Given the description of an element on the screen output the (x, y) to click on. 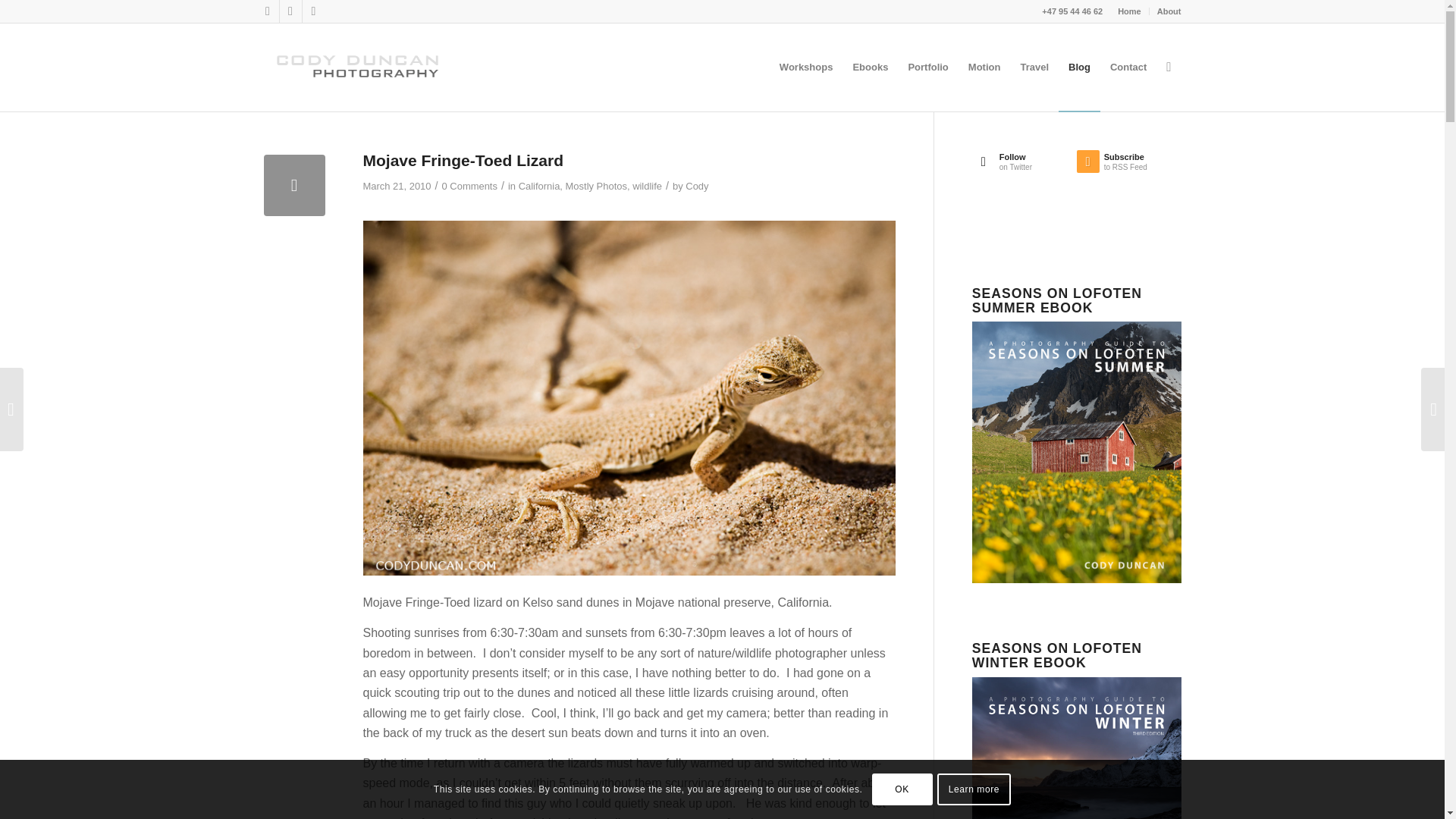
Posts by Cody (696, 185)
wildlife (646, 185)
About (1168, 11)
Home (1129, 11)
Cody Duncan Photography (359, 67)
Mojave Fringe-Toed Lizard (293, 185)
Instagram (312, 11)
Mostly Photos (596, 185)
Facebook (290, 11)
Twitter (267, 11)
Home (1129, 11)
Cody (696, 185)
California (539, 185)
0 Comments (469, 185)
